Given the description of an element on the screen output the (x, y) to click on. 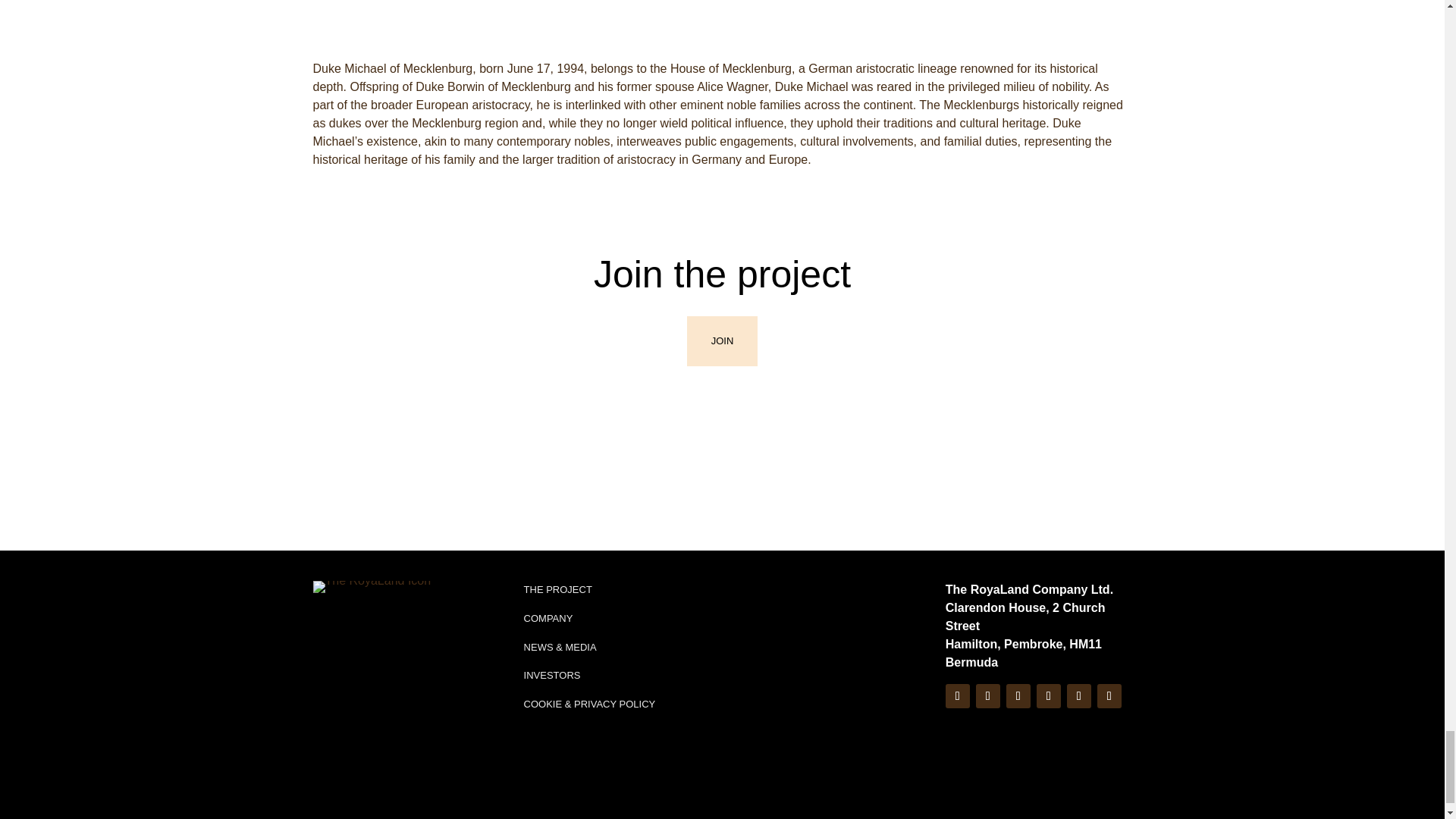
JOIN (722, 291)
Icona RoyaLand (371, 537)
COMPANY (548, 568)
THE PROJECT (558, 540)
INVESTORS (552, 625)
